Given the description of an element on the screen output the (x, y) to click on. 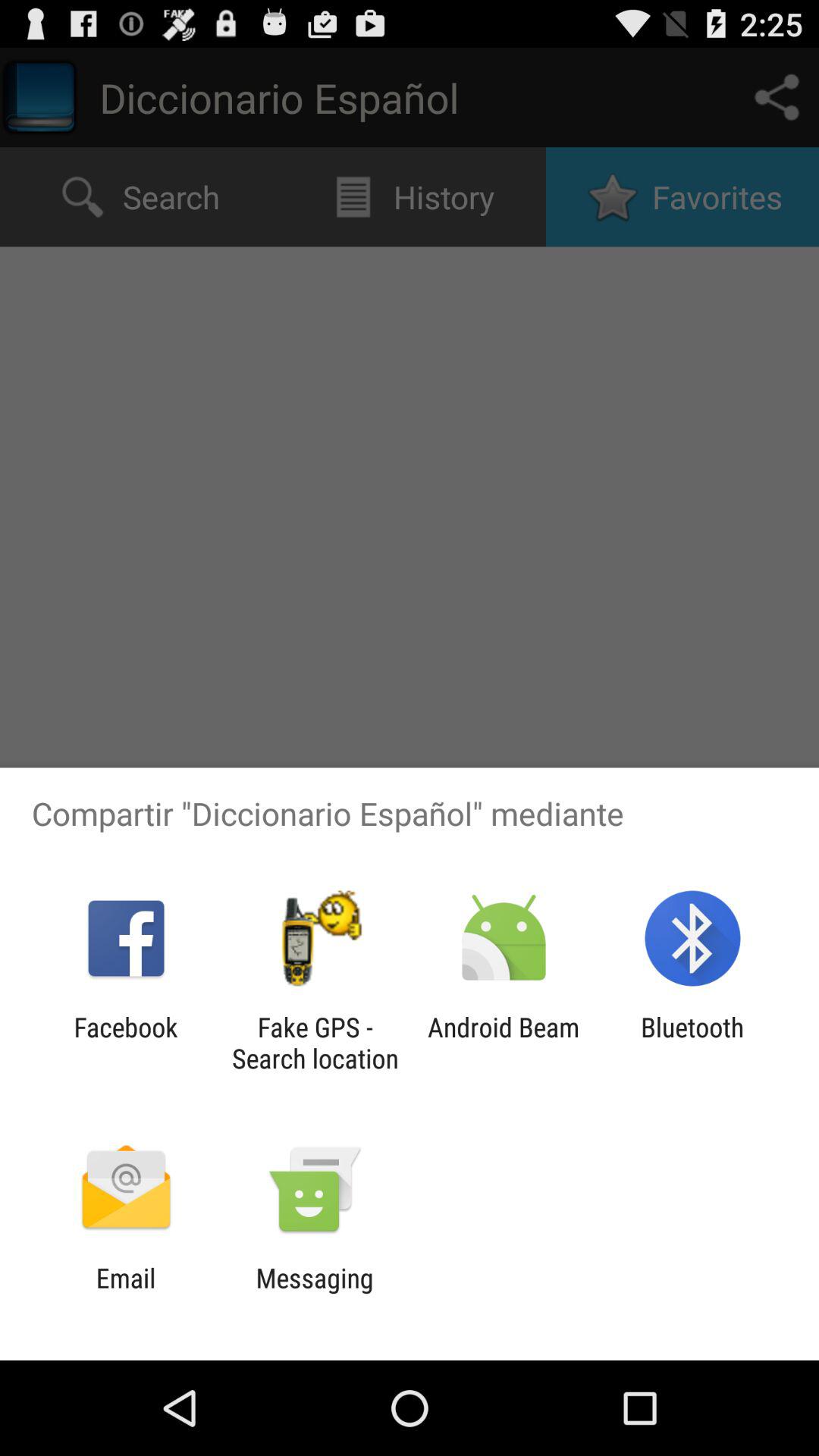
launch item next to android beam app (314, 1042)
